Given the description of an element on the screen output the (x, y) to click on. 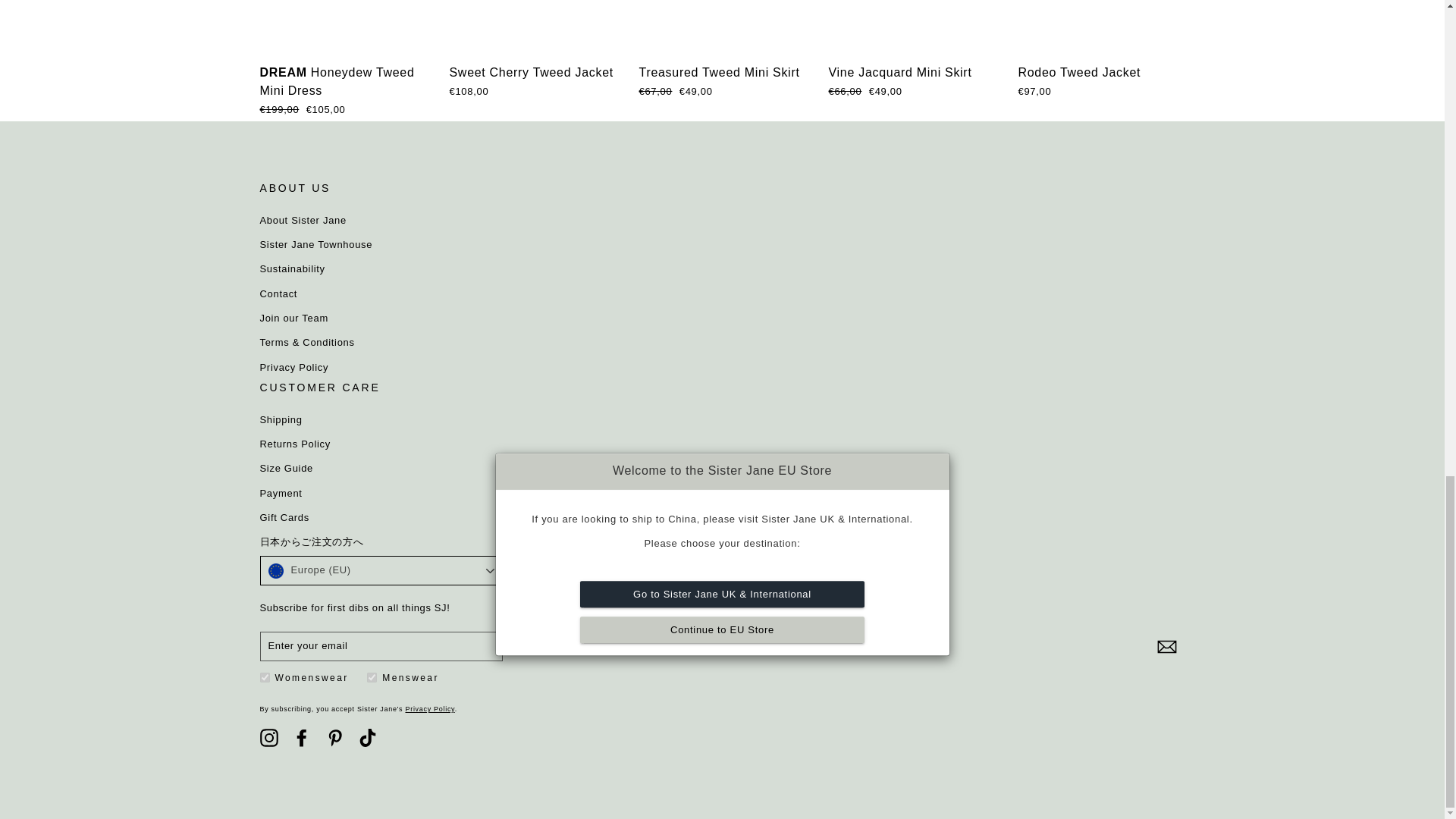
men (371, 677)
women (264, 677)
